Given the description of an element on the screen output the (x, y) to click on. 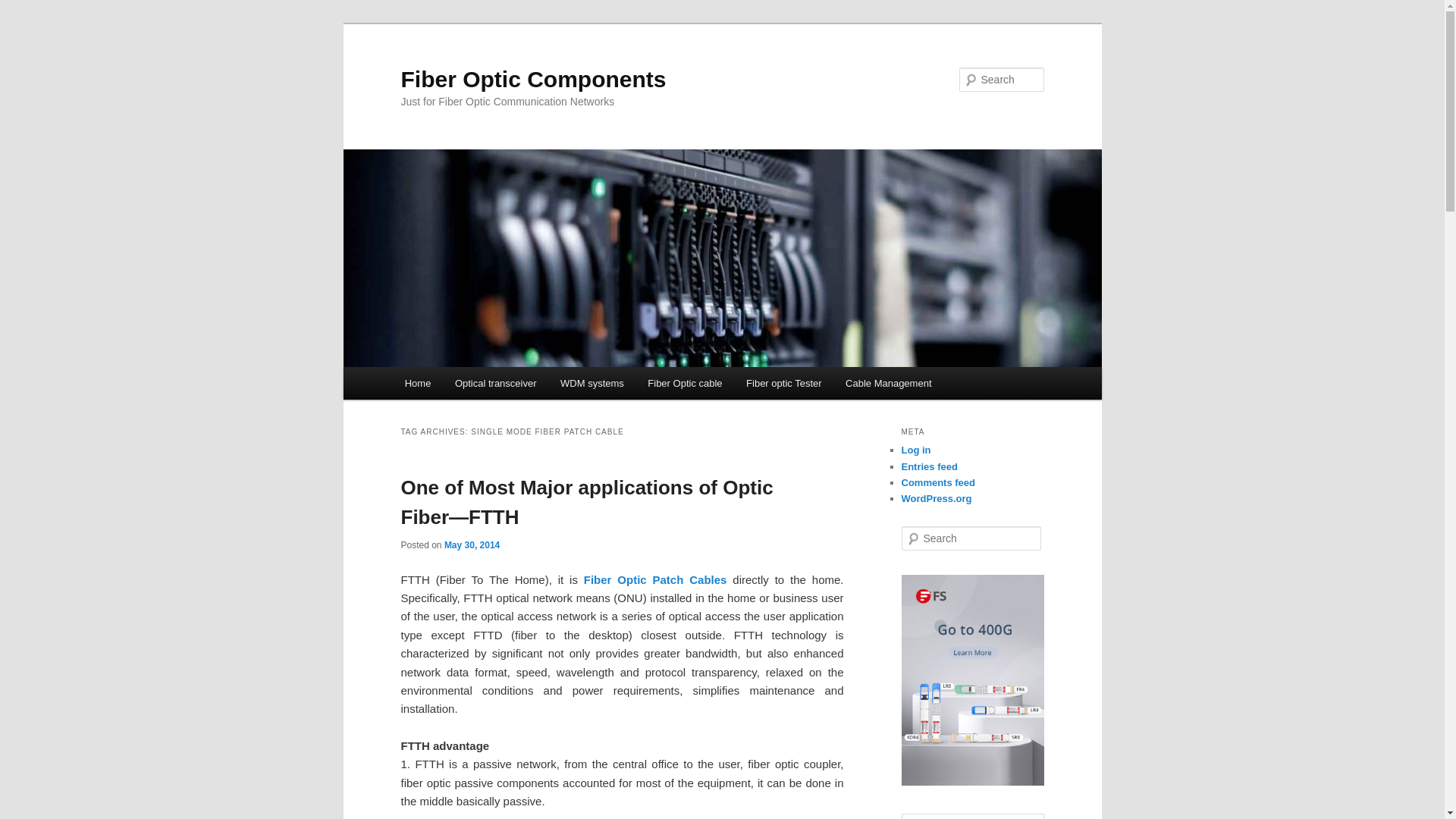
Optical transceiver (495, 382)
Fiber Optic Patch Cables (654, 579)
Entries feed (928, 466)
Fiber Optic Components (532, 78)
WordPress.org (936, 498)
WDM systems (591, 382)
Search (24, 8)
Home (417, 382)
Cable Management (887, 382)
Comments feed (938, 482)
